Given the description of an element on the screen output the (x, y) to click on. 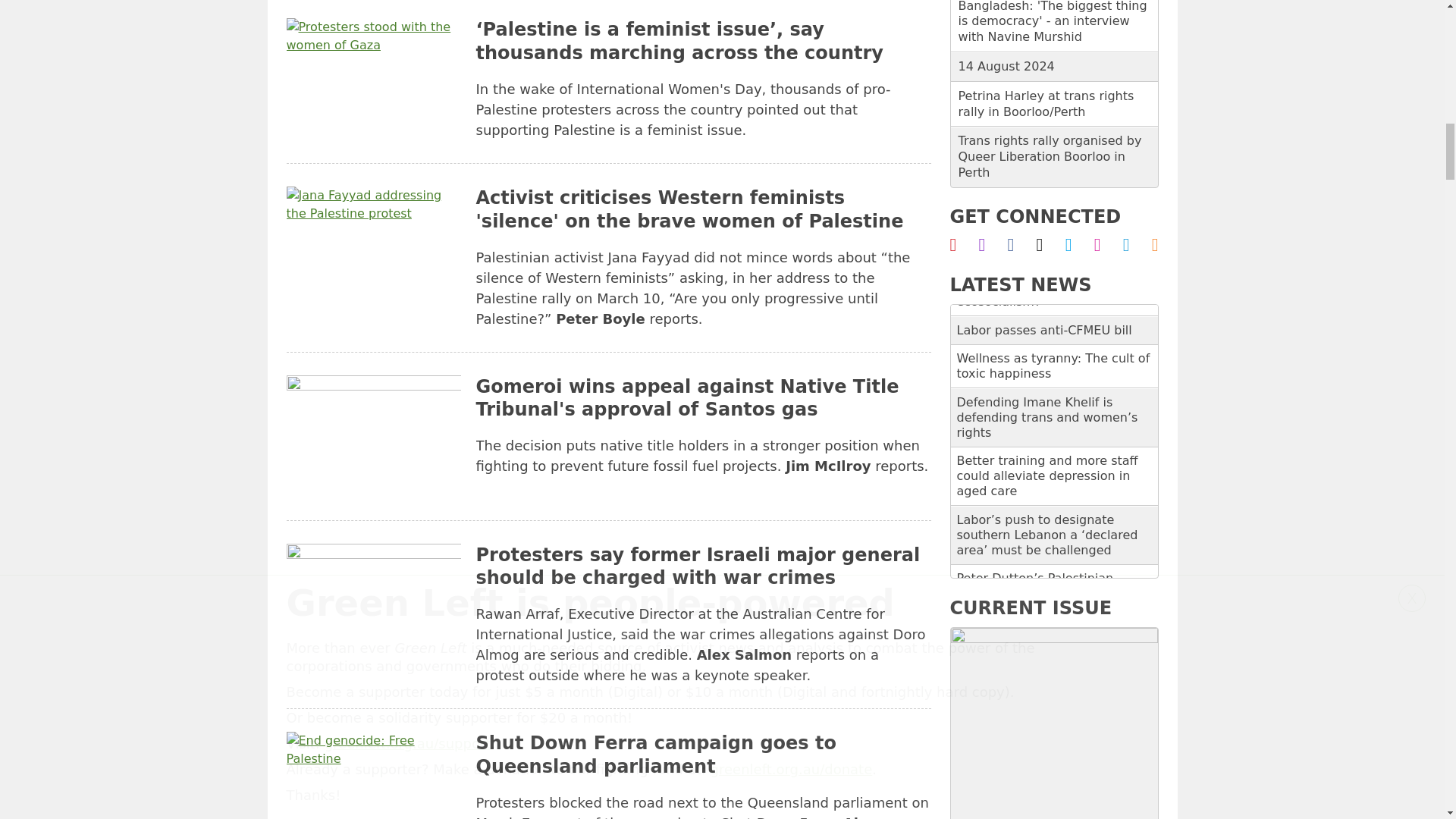
Protesters stood with the women of Gaza (373, 79)
End genocide: Free Palestine (373, 775)
Jana Fayyad addressing the Palestine protest (373, 247)
